Given the description of an element on the screen output the (x, y) to click on. 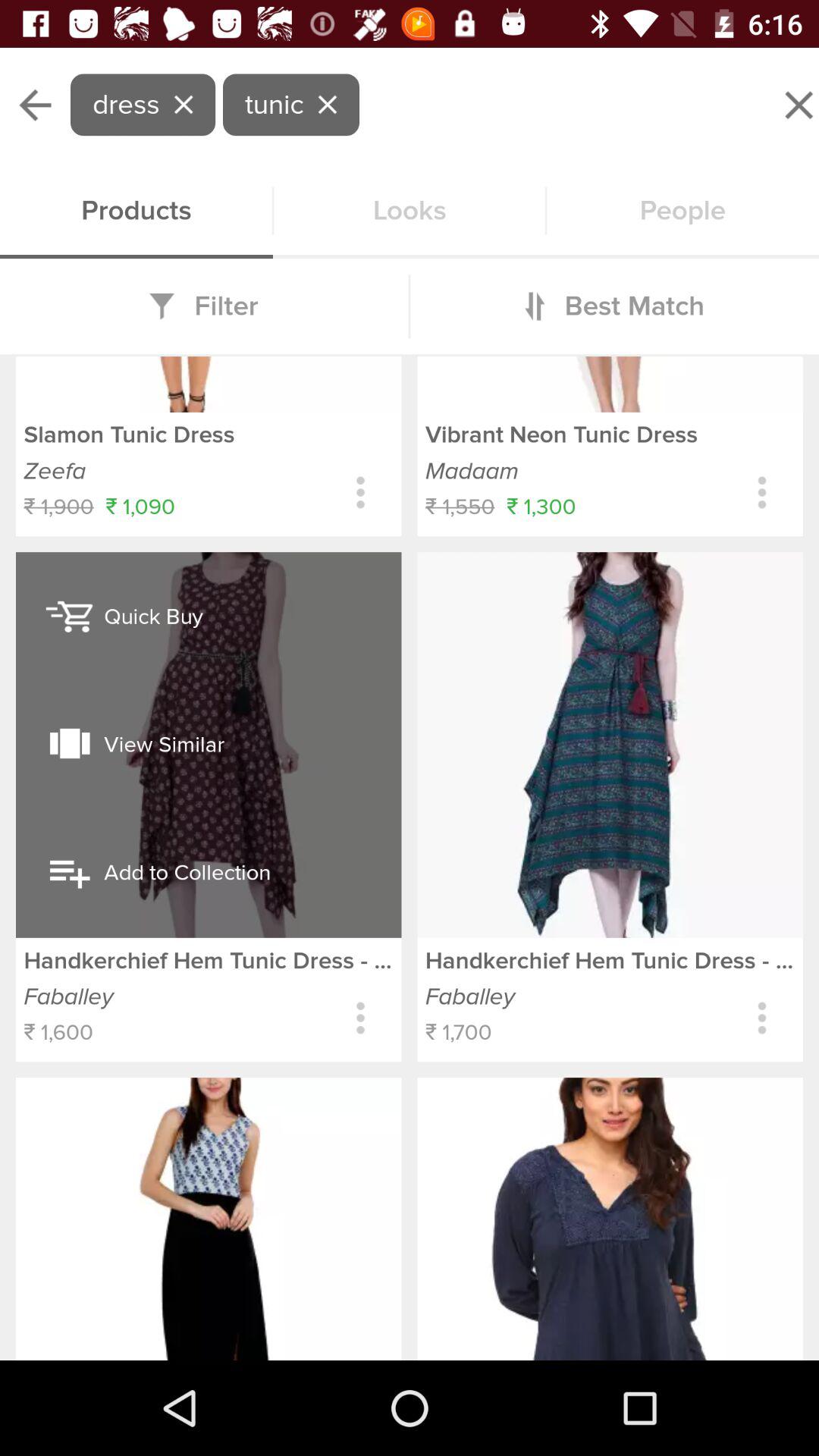
view product details (409, 809)
